Given the description of an element on the screen output the (x, y) to click on. 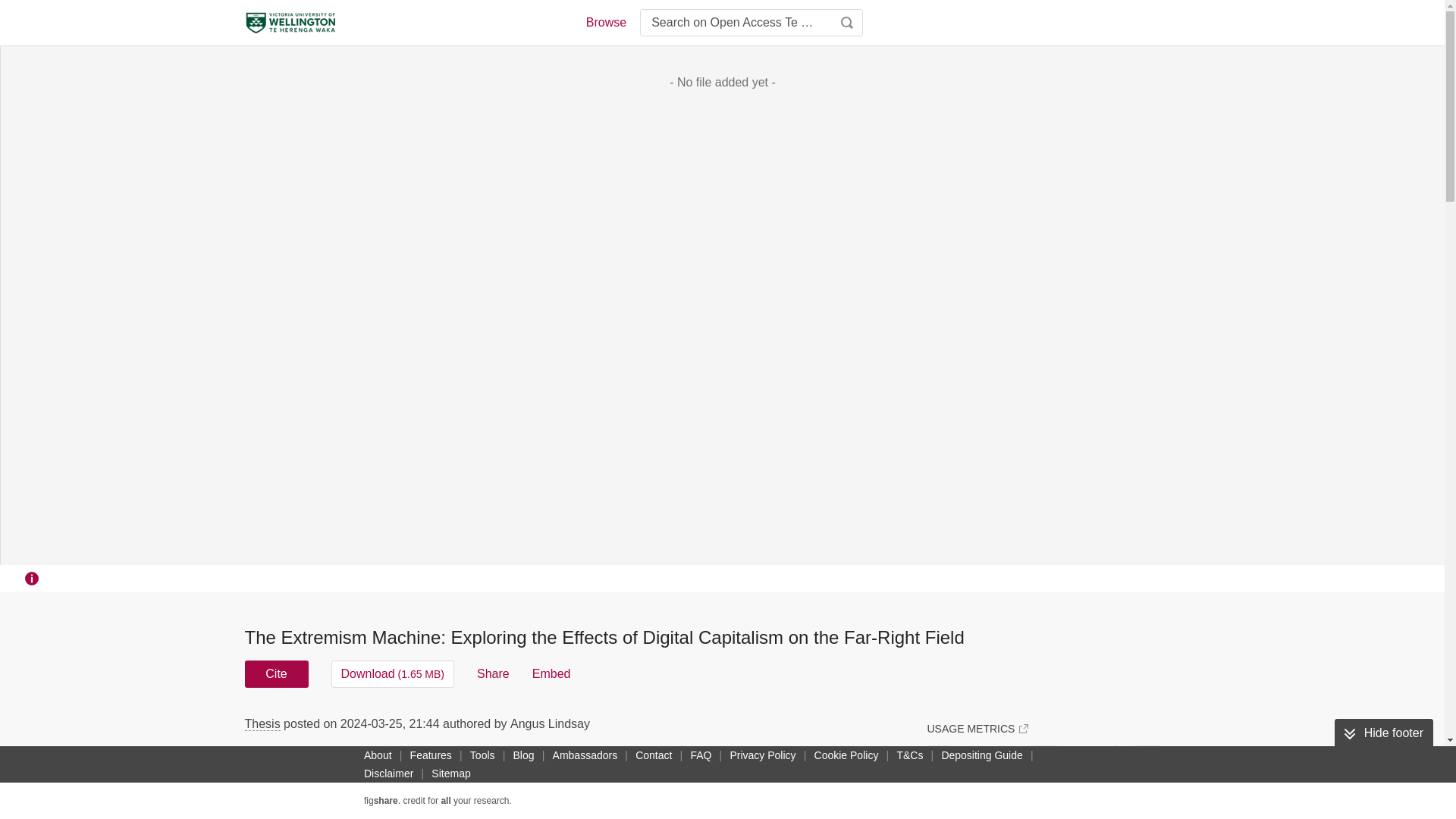
Embed (551, 673)
Cite (275, 673)
Browse (605, 22)
Share (493, 673)
USAGE METRICS (976, 728)
